Given the description of an element on the screen output the (x, y) to click on. 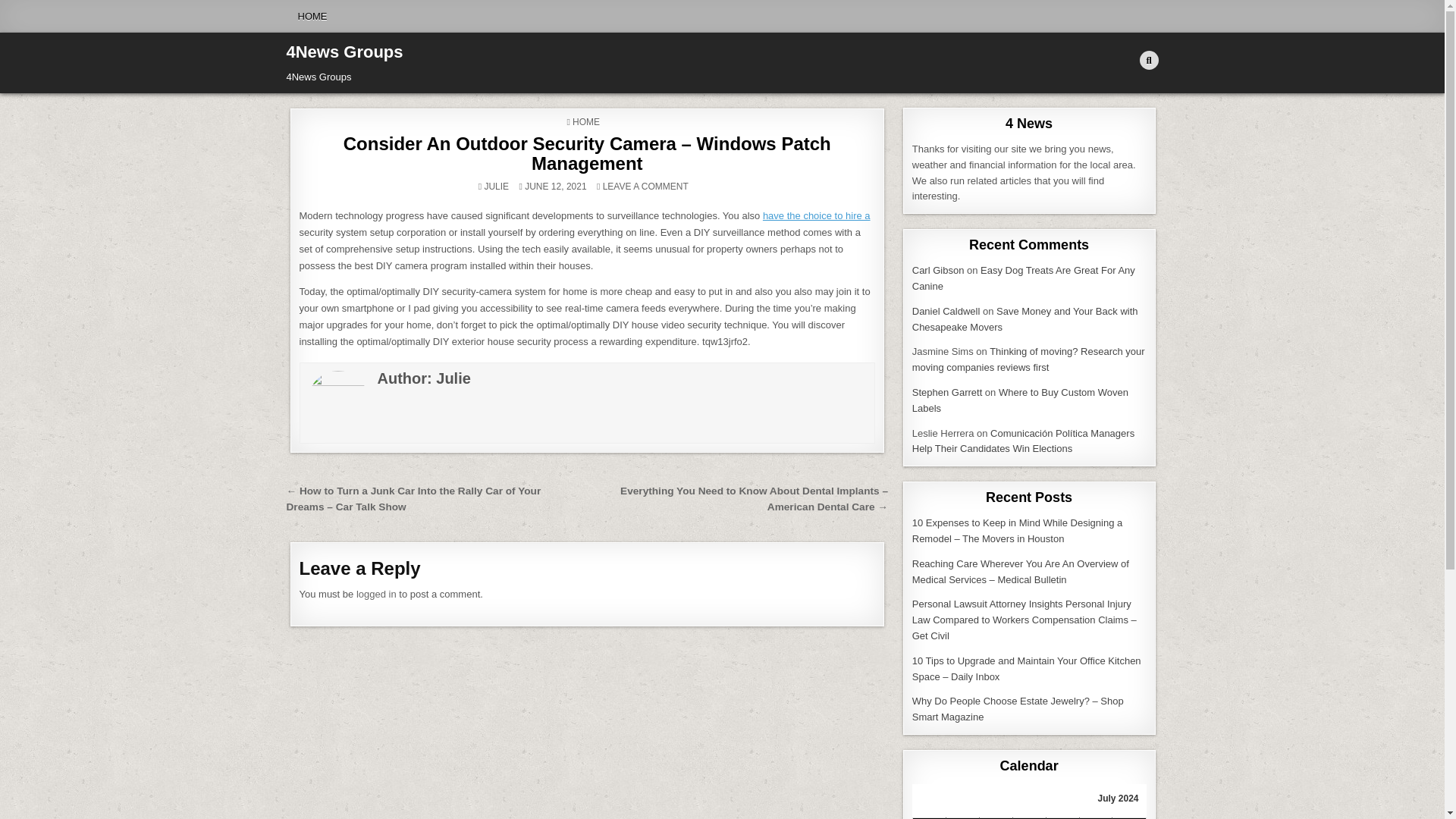
Easy Dog Treats Are Great For Any Canine (1023, 277)
HOME (312, 16)
Carl Gibson (937, 270)
Stephen Garrett (947, 392)
Save Money and Your Back with Chesapeake Movers (1025, 318)
Search (1148, 60)
Where to Buy Custom Woven Labels (1020, 400)
Daniel Caldwell (945, 310)
HOME (585, 122)
